Given the description of an element on the screen output the (x, y) to click on. 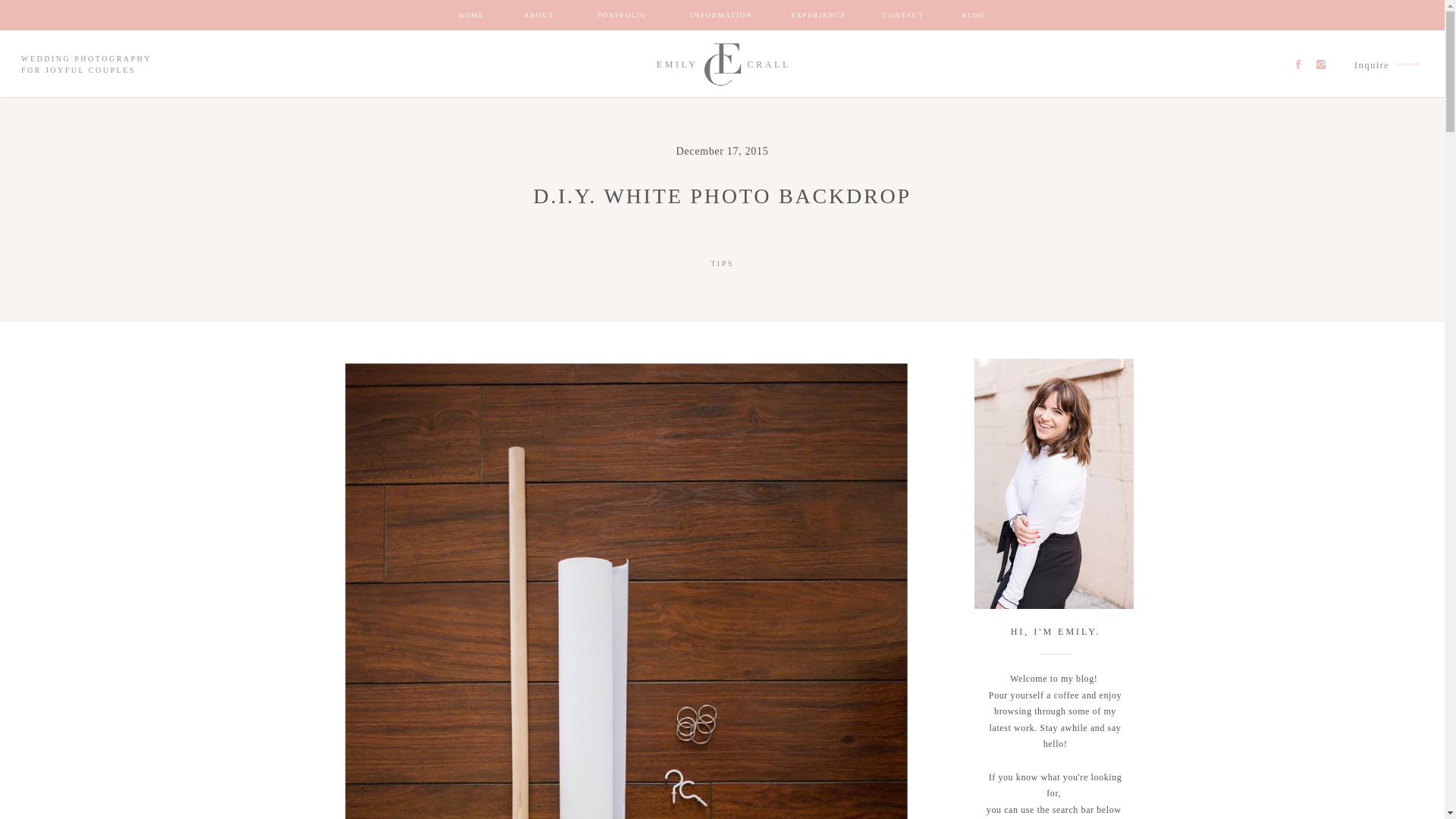
EXPERIENCE (818, 15)
BLOG (973, 15)
HOME (470, 15)
CONTACT (902, 15)
ABOUT (539, 15)
TIPS (721, 263)
arrow (1407, 63)
arrow (1407, 63)
Inquire  (1367, 64)
INFORMATION (722, 15)
